Given the description of an element on the screen output the (x, y) to click on. 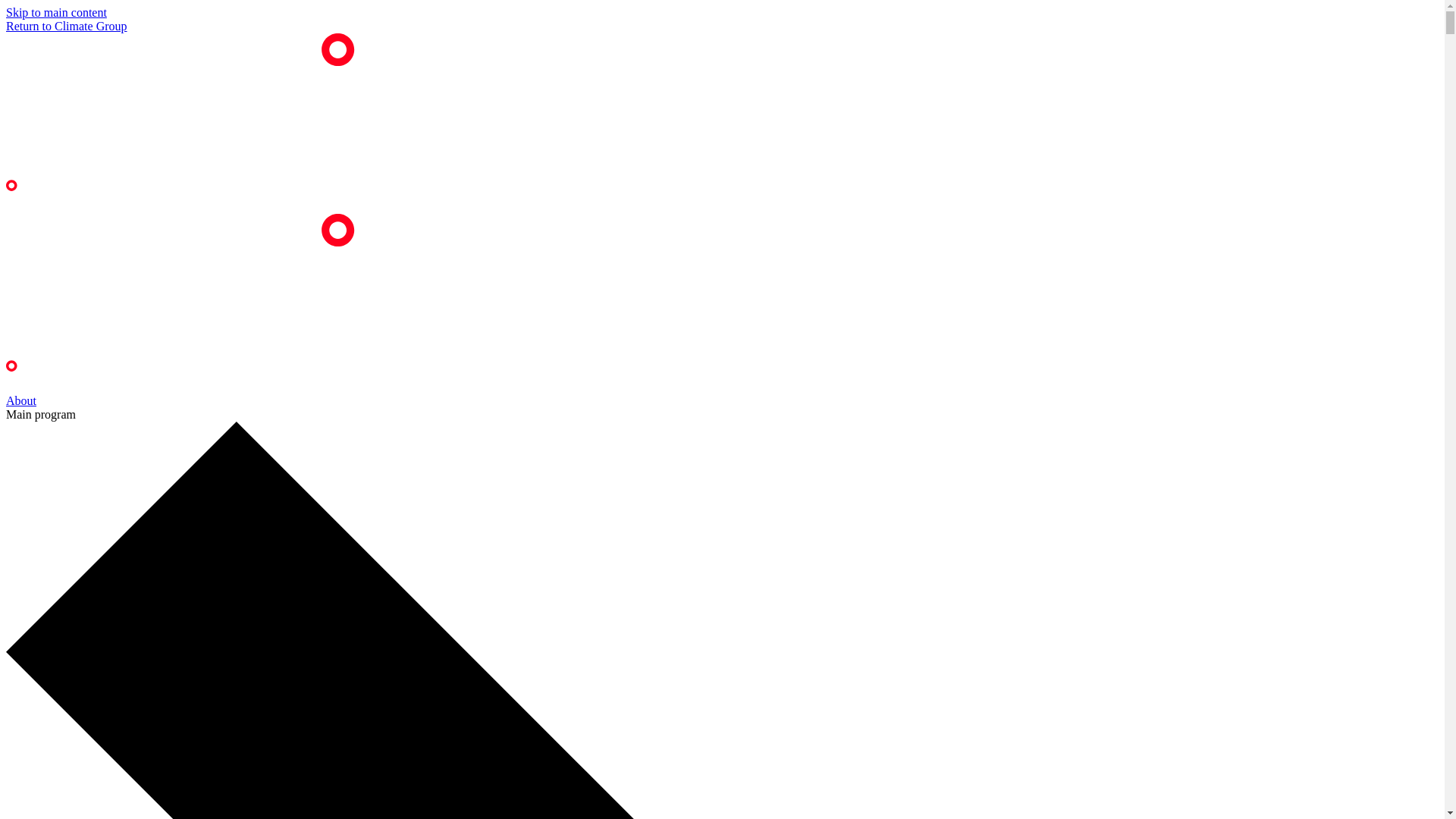
Return to Climate Group (66, 25)
Skip to main content (55, 11)
